Given the description of an element on the screen output the (x, y) to click on. 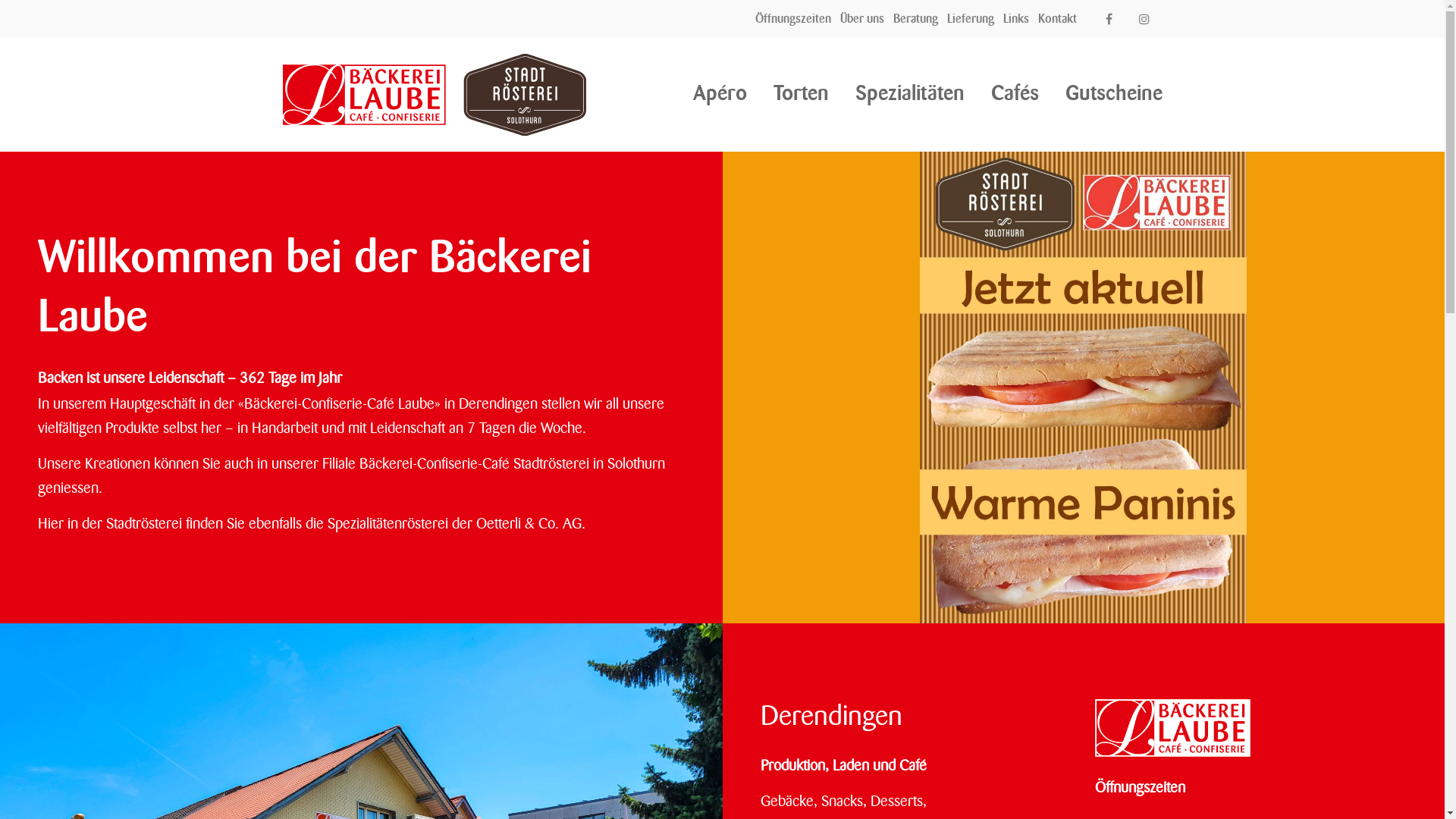
Lieferung Element type: text (970, 18)
Torten Element type: text (800, 93)
Kontakt Element type: text (1057, 18)
Gutscheine Element type: text (1112, 93)
Beratung Element type: text (915, 18)
Links Element type: text (1016, 18)
